Given the description of an element on the screen output the (x, y) to click on. 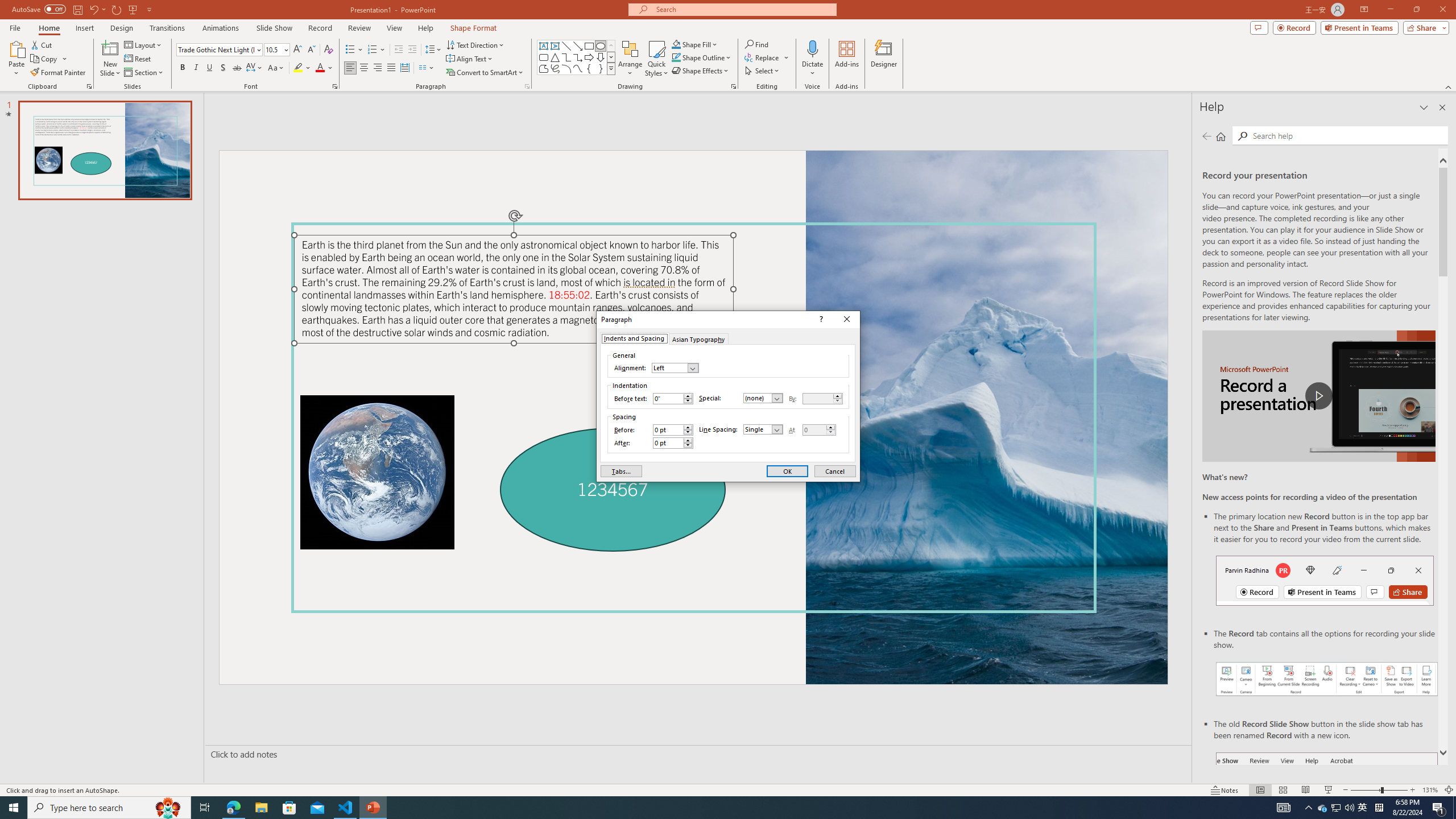
Before (667, 429)
Shape Fill Aqua, Accent 2 (675, 44)
At (814, 429)
Tabs... (620, 470)
